Given the description of an element on the screen output the (x, y) to click on. 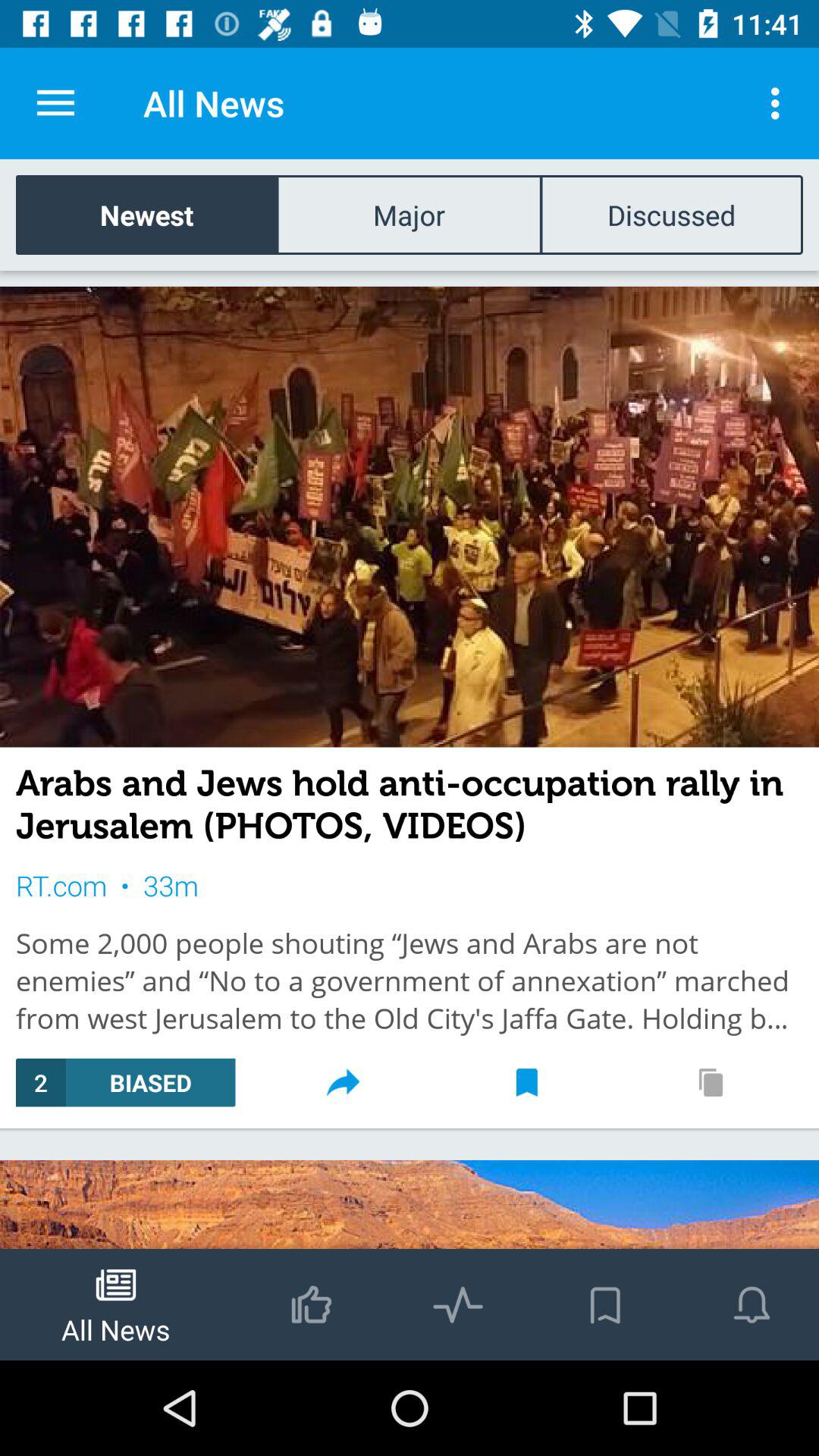
open the item next to all news icon (55, 103)
